Given the description of an element on the screen output the (x, y) to click on. 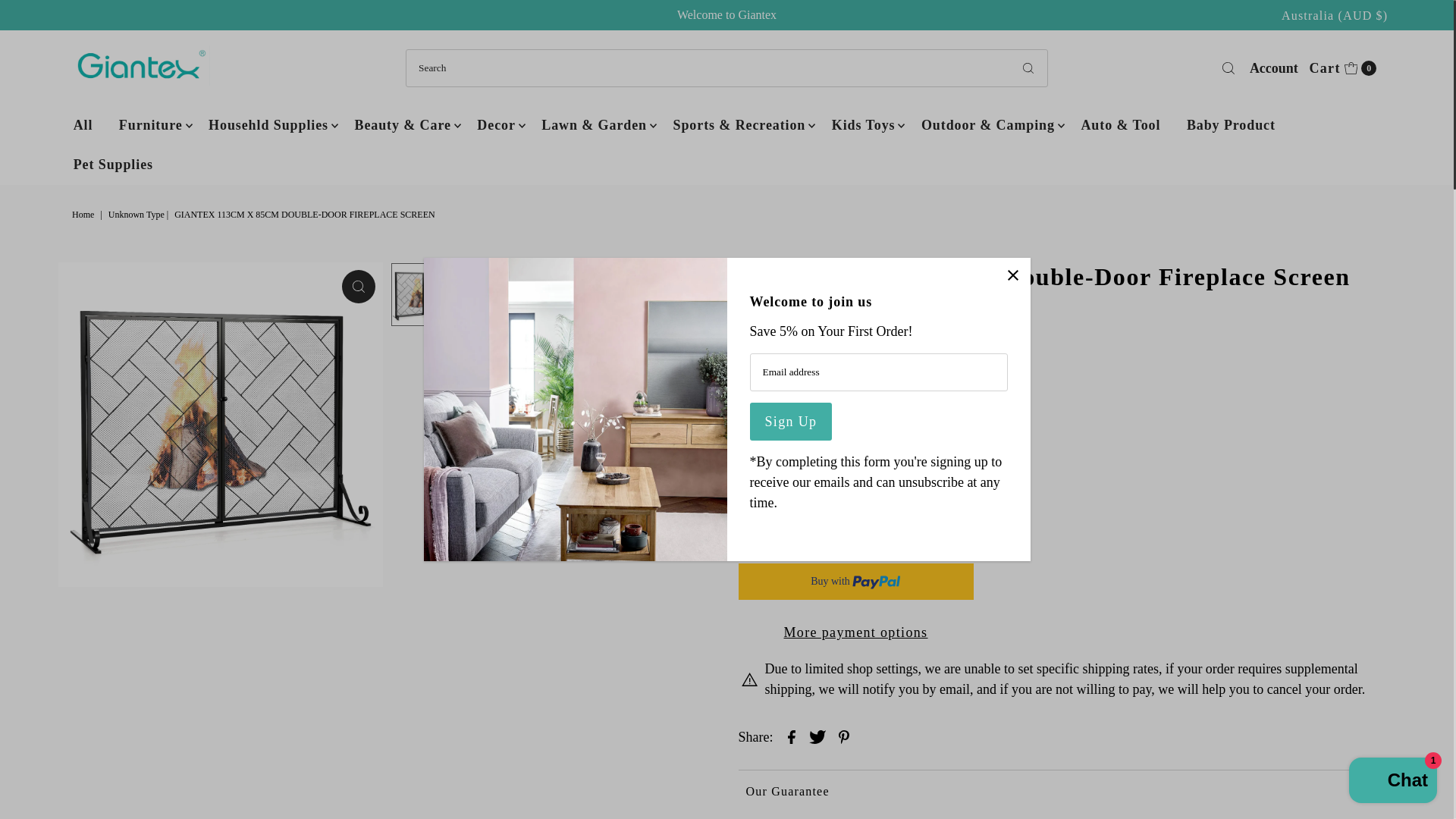
Furniture (150, 125)
Share on Pinterest (844, 734)
Sign Up (790, 421)
Share on Facebook (791, 734)
Add to Cart (856, 536)
Share on Twitter (817, 734)
Click to zoom (358, 286)
Account (1273, 67)
All (83, 125)
Home (1342, 67)
1 (84, 214)
